Given the description of an element on the screen output the (x, y) to click on. 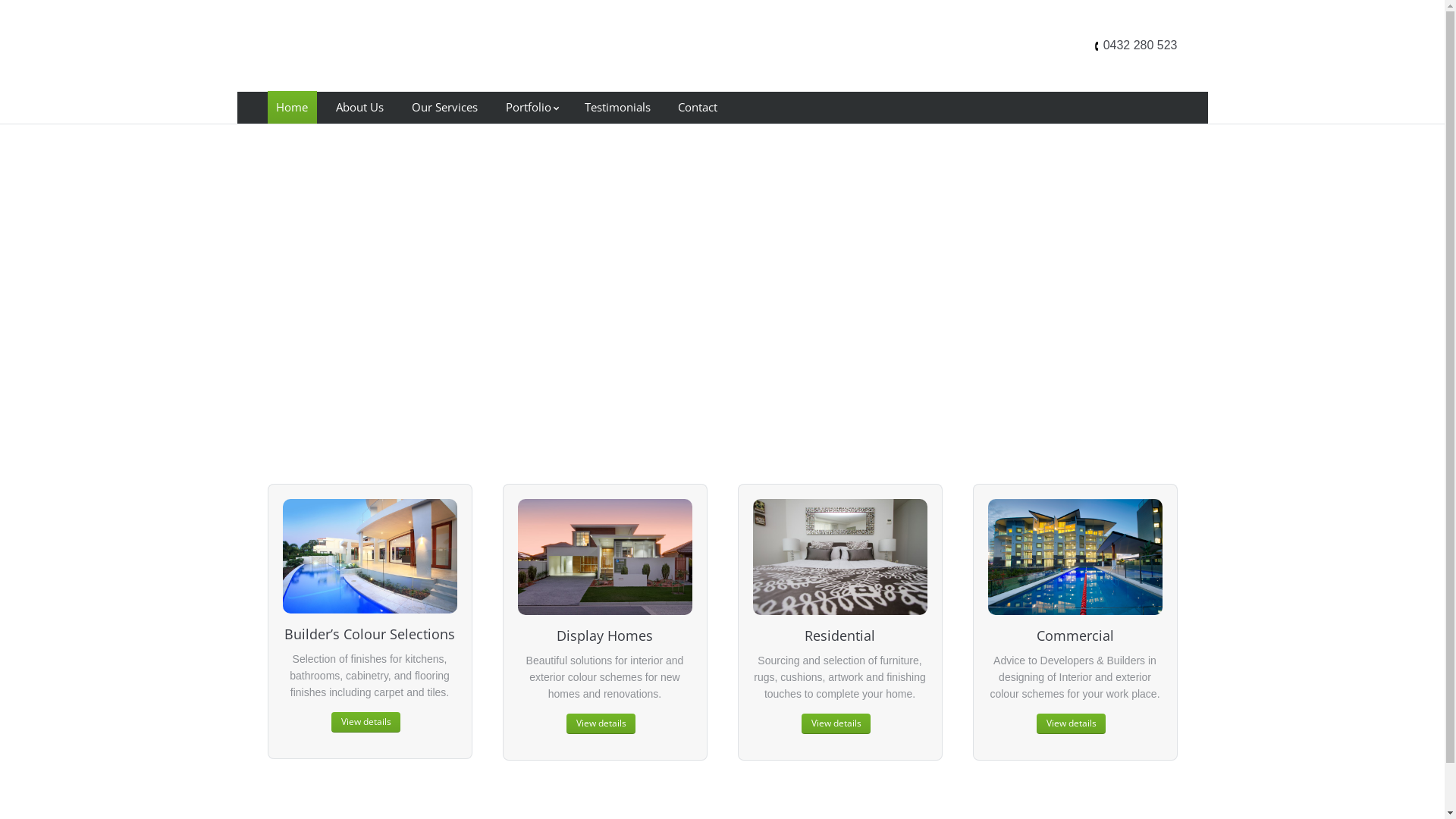
Home Element type: text (291, 107)
View details Element type: text (365, 722)
View details Element type: text (835, 723)
View details Element type: text (600, 723)
Our Services Element type: text (444, 107)
Testimonials Element type: text (616, 107)
About Us Element type: text (359, 107)
View details Element type: text (1070, 723)
Contact Element type: text (697, 107)
Portfolio Element type: text (530, 107)
